Given the description of an element on the screen output the (x, y) to click on. 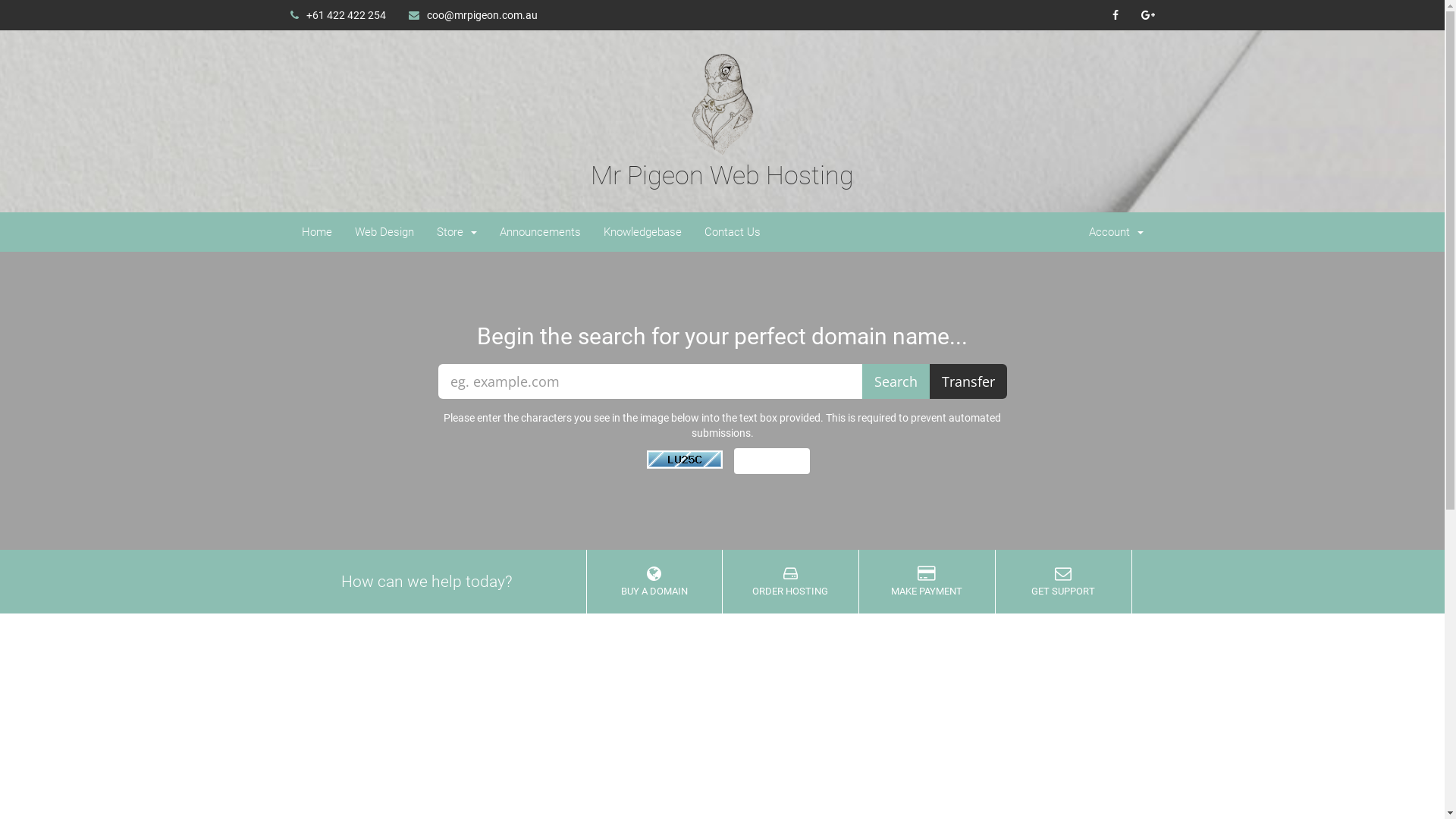
+61 422 422 254 Element type: text (338, 15)
MAKE PAYMENT Element type: text (926, 581)
Knowledgebase Element type: text (641, 231)
BUY A DOMAIN Element type: text (653, 581)
Transfer Element type: text (968, 381)
GET SUPPORT Element type: text (1062, 581)
Web Design Element type: text (383, 231)
Account   Element type: text (1115, 231)
Store   Element type: text (455, 231)
Home Element type: text (315, 231)
Mr Pigeon Web Hosting Element type: text (721, 143)
Announcements Element type: text (540, 231)
coo@mrpigeon.com.au Element type: text (473, 15)
ORDER HOSTING Element type: text (789, 581)
Contact Us Element type: text (732, 231)
Search Element type: text (894, 381)
